Given the description of an element on the screen output the (x, y) to click on. 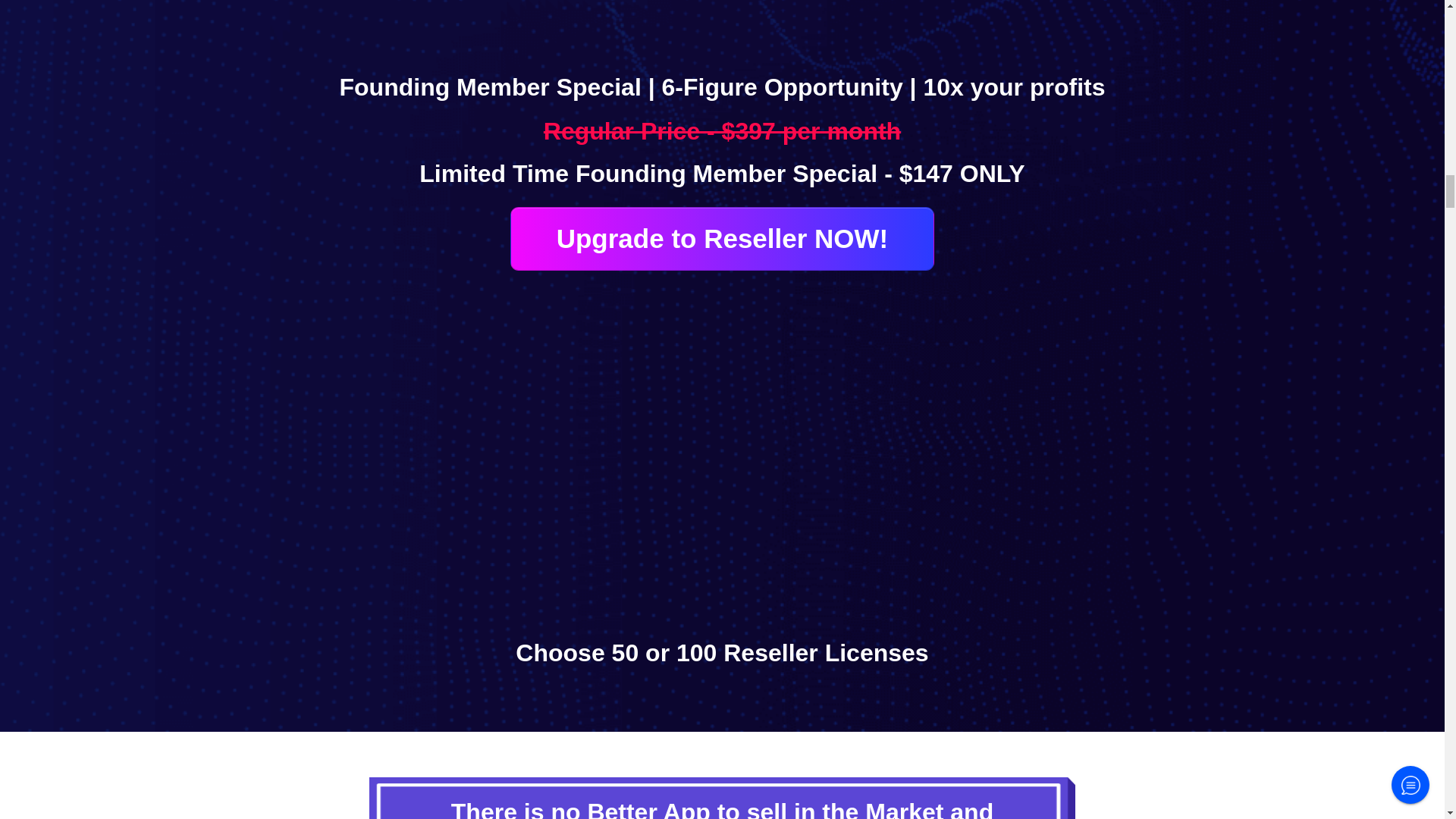
Upgrade to Reseller NOW! (722, 239)
